Given the description of an element on the screen output the (x, y) to click on. 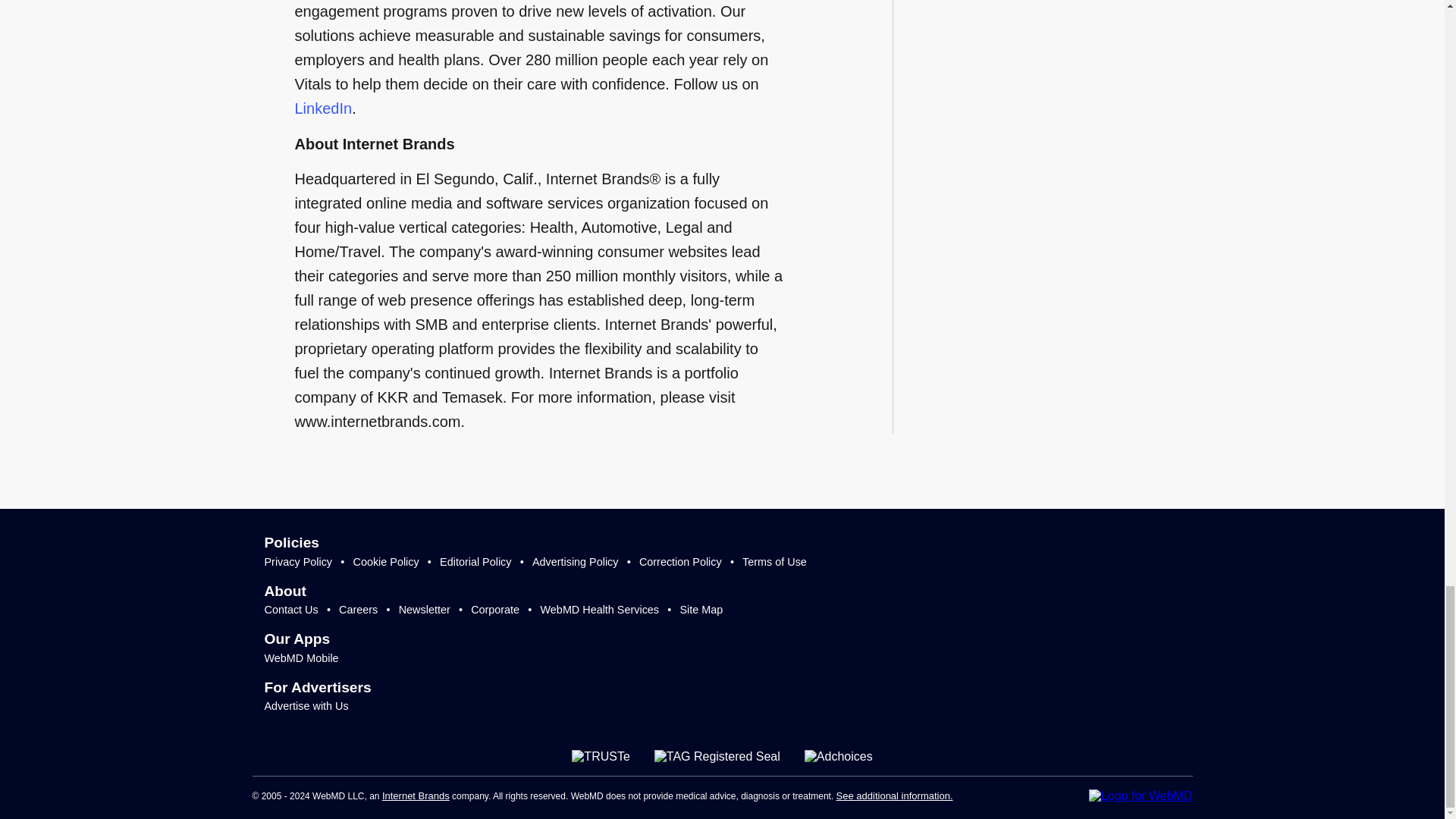
WebMD: Better information. Better health. (1140, 796)
TRUSTe Privacy Certification (600, 756)
Adchoices (838, 756)
TAG Registered Seal (716, 756)
